Given the description of an element on the screen output the (x, y) to click on. 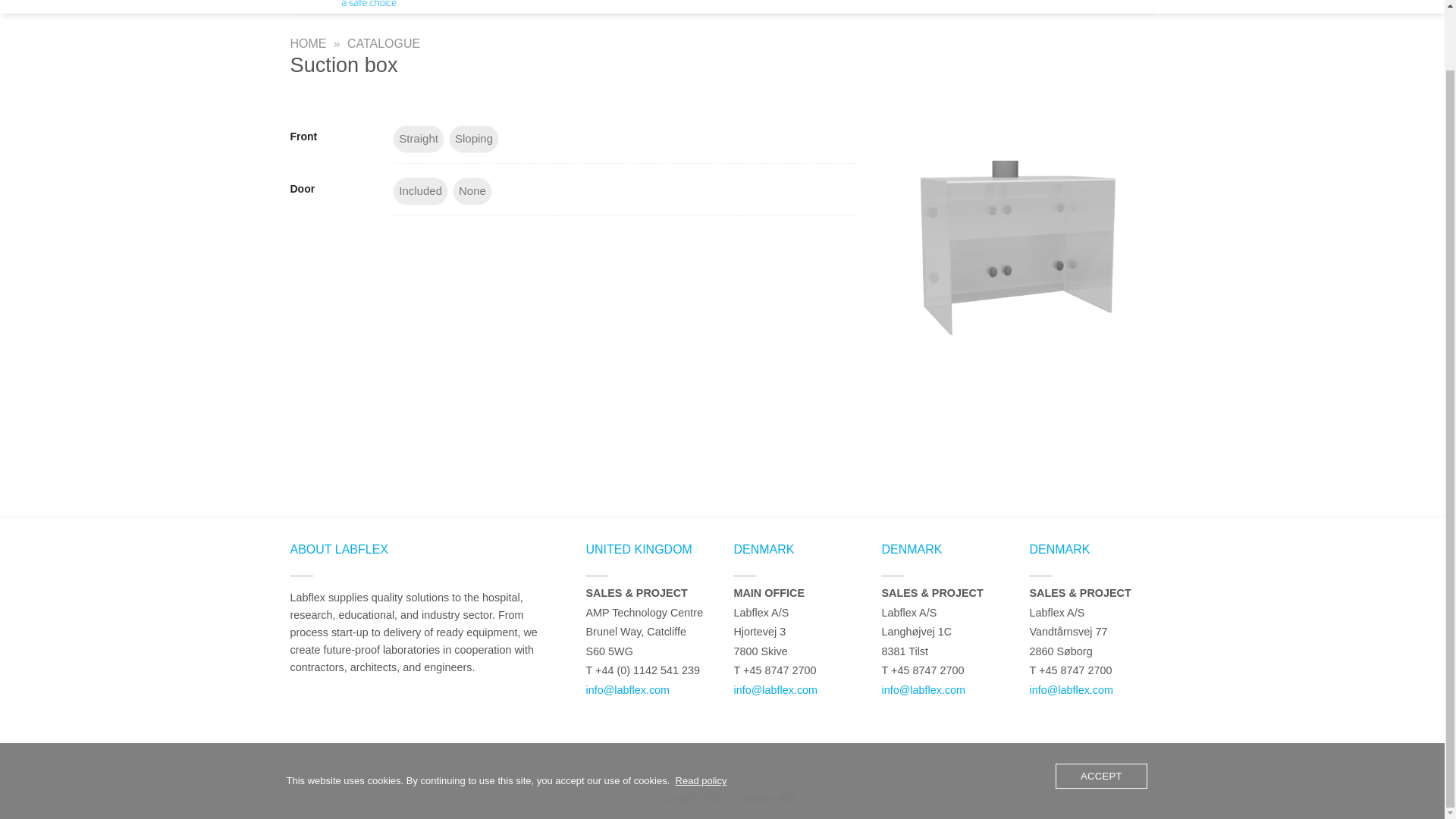
Sloping (473, 139)
None (472, 191)
Included (419, 191)
Labflex - A safe choice (377, 6)
Straight (418, 139)
